Given the description of an element on the screen output the (x, y) to click on. 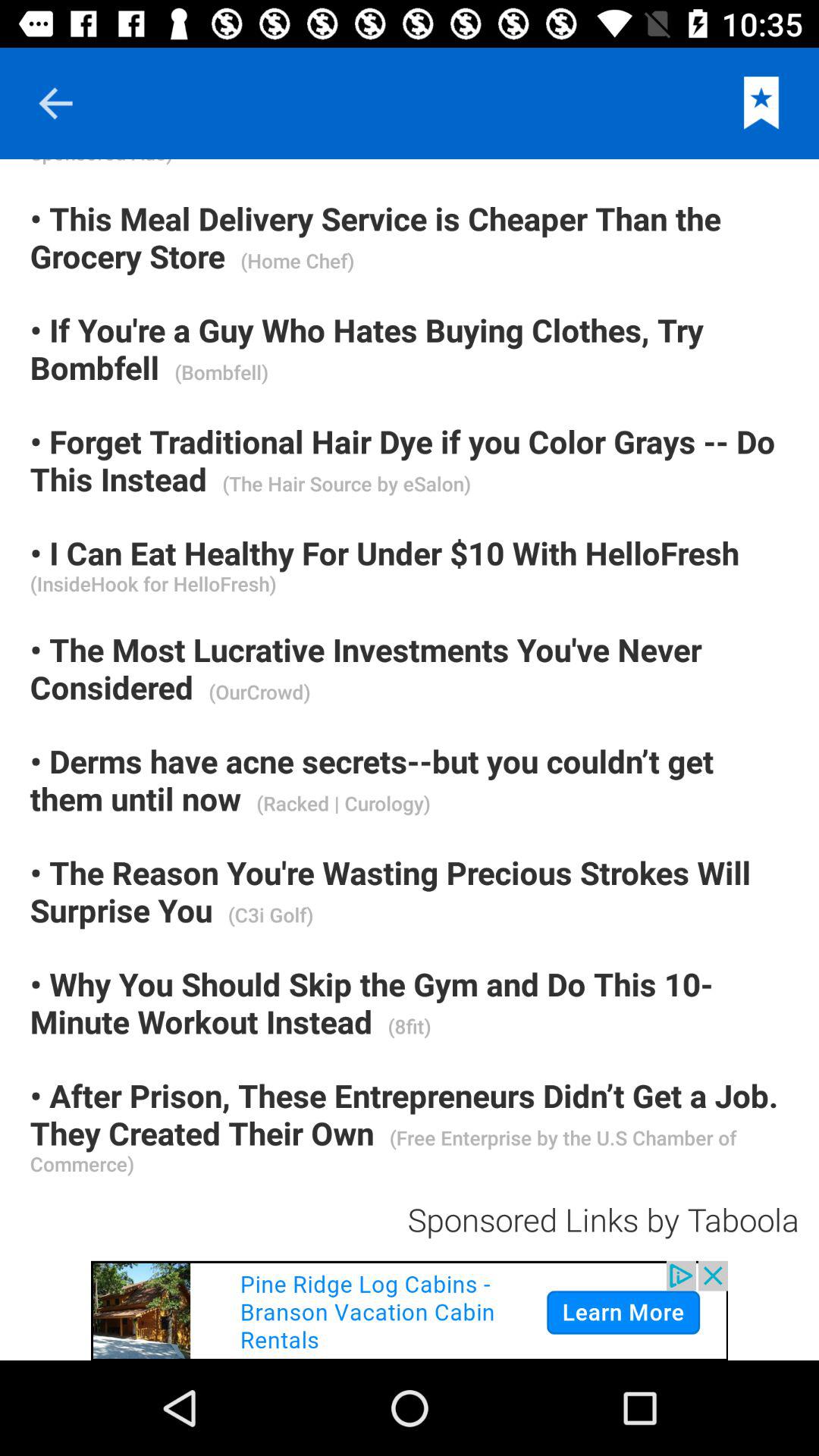
view previous page (55, 103)
